Given the description of an element on the screen output the (x, y) to click on. 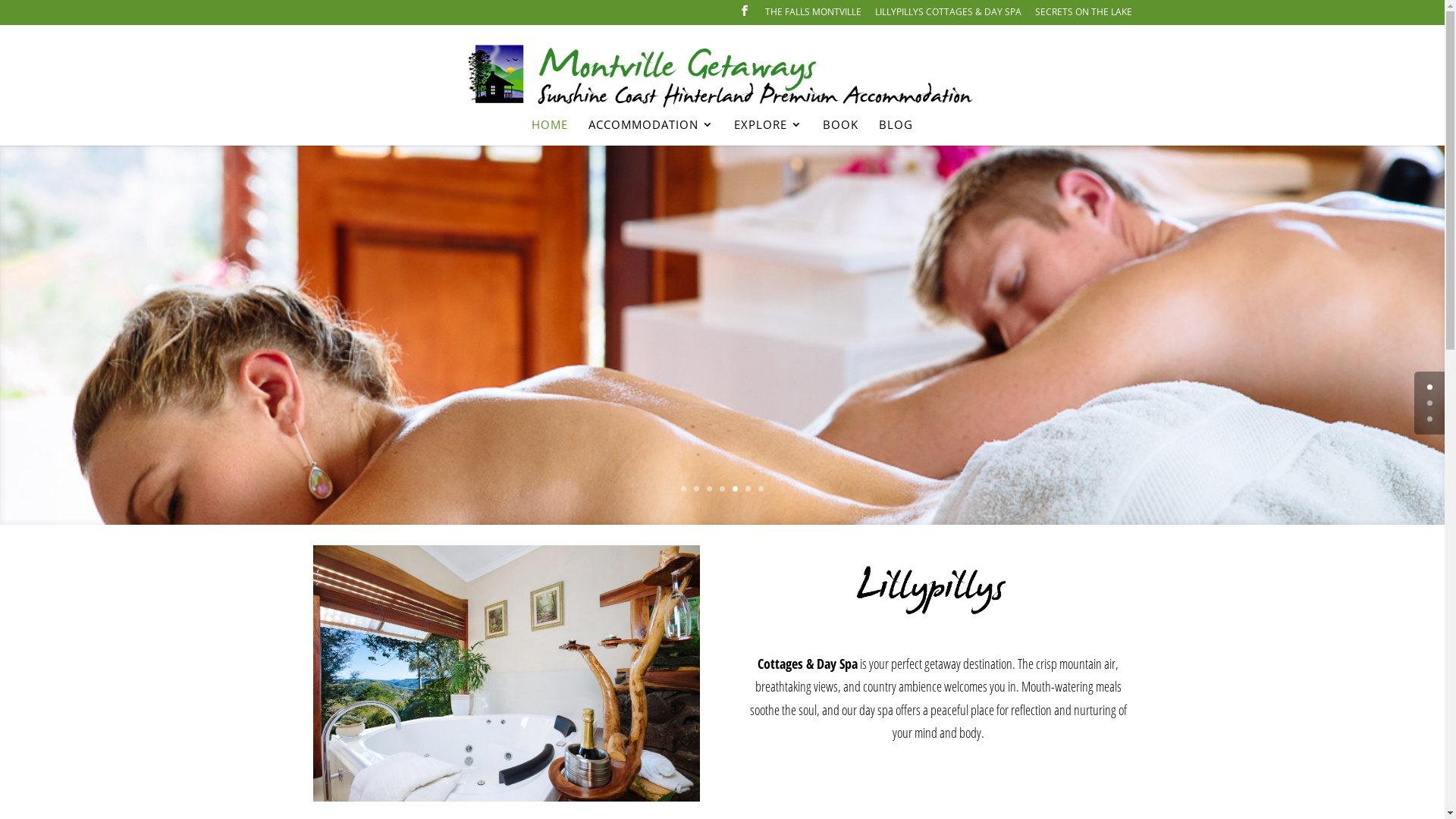
5 Element type: text (734, 488)
THE FALLS MONTVILLE Element type: text (812, 15)
EXPLORE Element type: text (768, 131)
BLOG Element type: text (895, 131)
2 Element type: text (1429, 418)
0 Element type: text (1429, 386)
4 Element type: text (721, 488)
LILLYPILLYS COTTAGES & DAY SPA Element type: text (948, 15)
BOOK Element type: text (840, 131)
7 Element type: text (760, 488)
6 Element type: text (747, 488)
HOME Element type: text (549, 131)
SECRETS ON THE LAKE Element type: text (1082, 15)
ACCOMMODATION Element type: text (650, 131)
3 Element type: text (709, 488)
1 Element type: text (683, 488)
2 Element type: text (696, 488)
1 Element type: text (1429, 402)
